Given the description of an element on the screen output the (x, y) to click on. 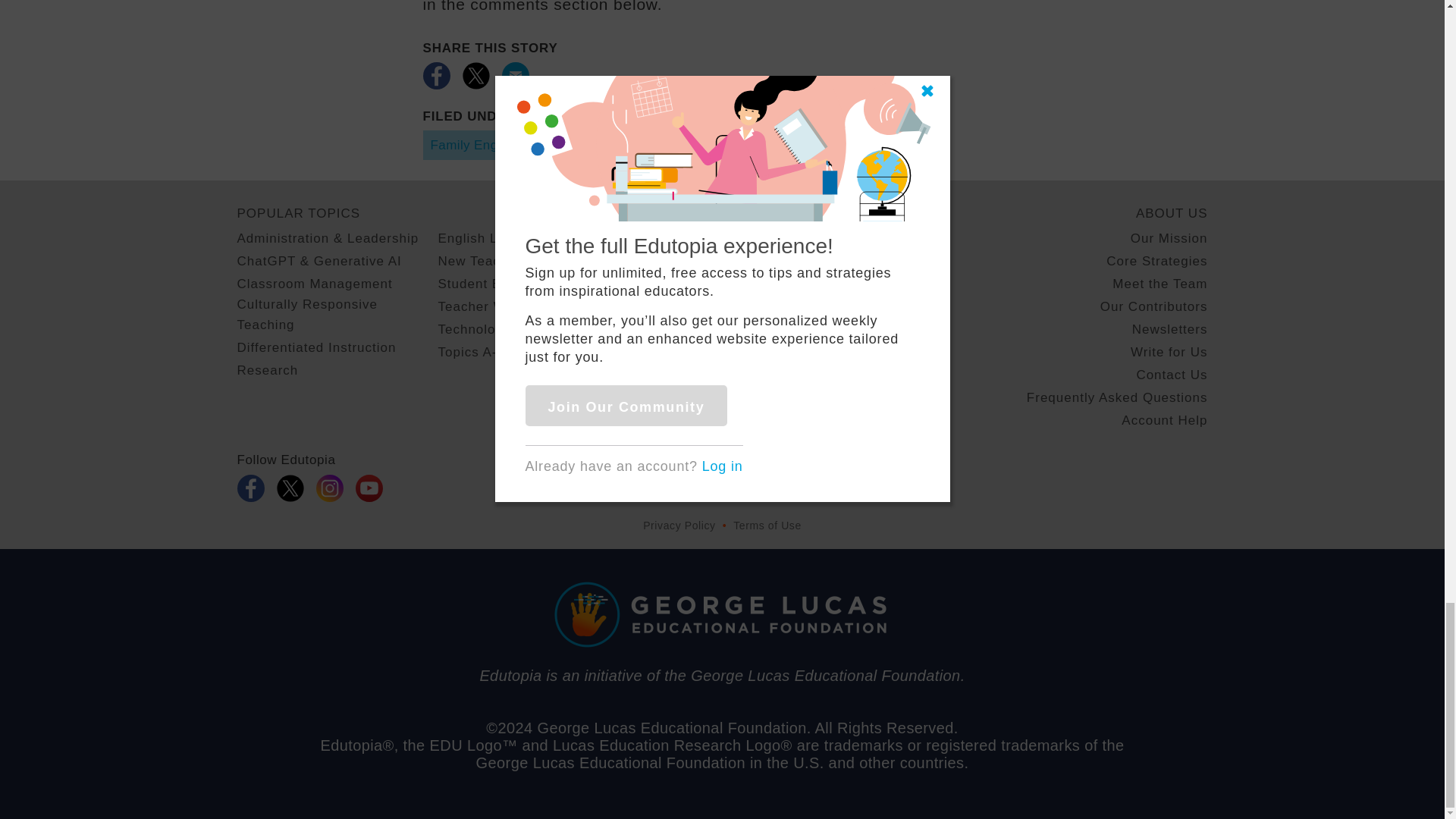
Teacher Wellness (494, 306)
Differentiated Instruction (315, 347)
Technology Integration (765, 144)
Family Engagement (490, 144)
Classroom Management (313, 283)
Education Trends (623, 144)
Culturally Responsive Teaching (336, 314)
New Teachers (483, 260)
English Language Learners (526, 238)
Research (266, 370)
Student Engagement (505, 283)
Technology Integration (511, 329)
